Given the description of an element on the screen output the (x, y) to click on. 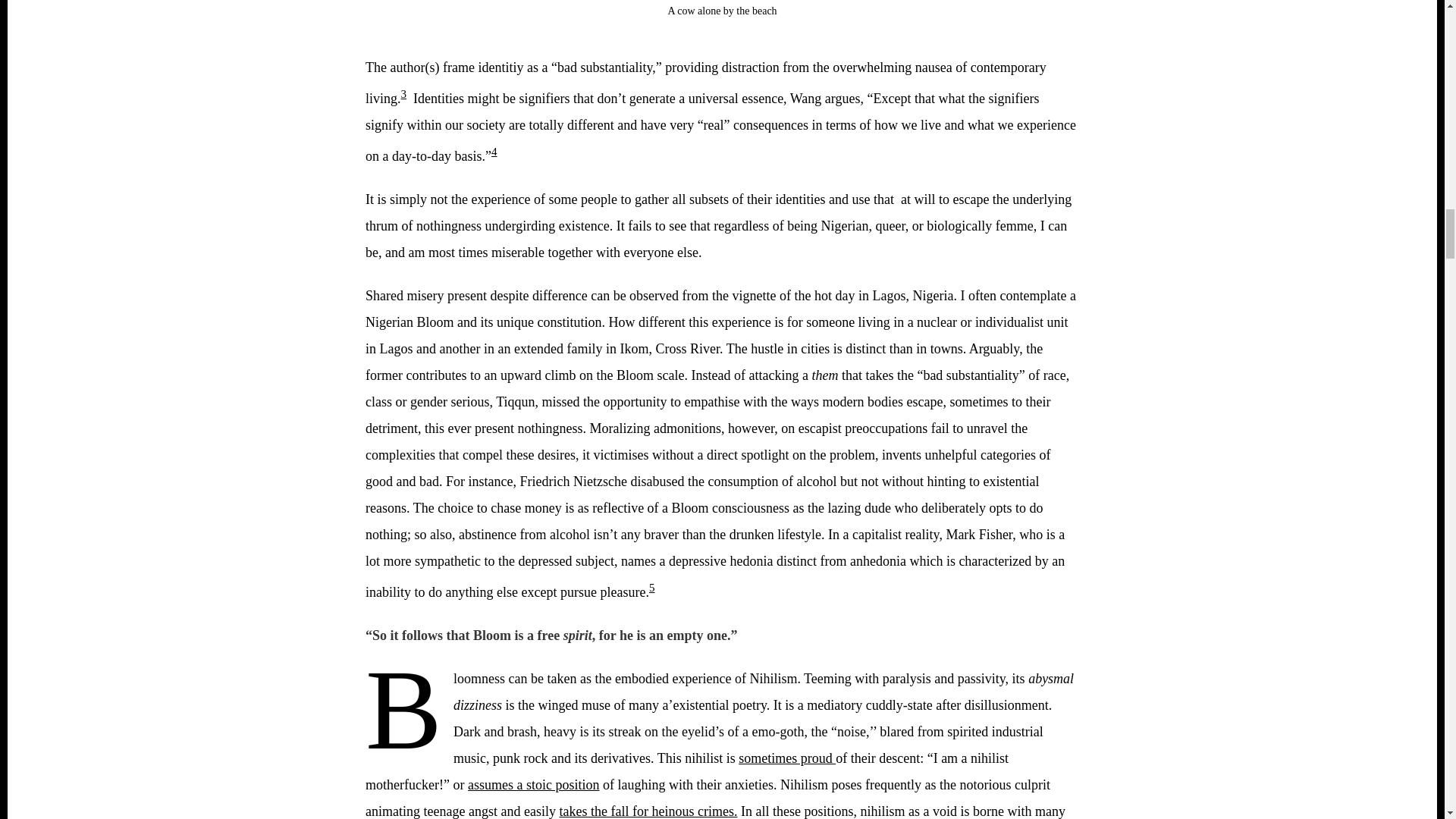
assumes a stoic position (533, 784)
takes the fall for heinous crimes. (648, 811)
sometimes proud (786, 758)
